Given the description of an element on the screen output the (x, y) to click on. 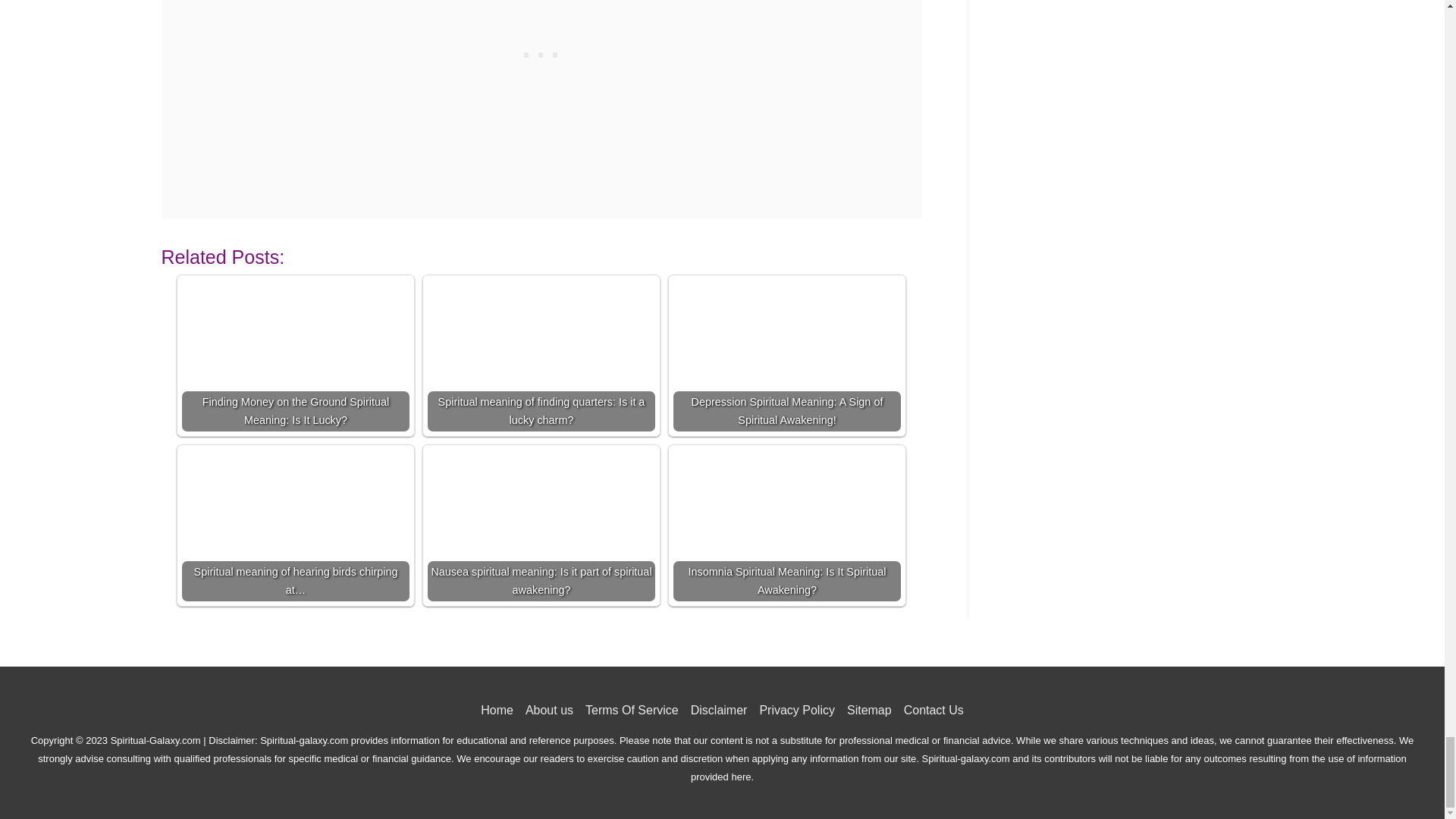
Spiritual meaning of finding quarters: Is it a lucky charm? (541, 355)
Depression Spiritual Meaning: A Sign of Spiritual Awakening! (786, 355)
Finding Money on the Ground Spiritual Meaning: Is It Lucky? (295, 355)
Insomnia Spiritual Meaning: Is It Spiritual Awakening? (786, 525)
Nausea spiritual meaning: Is it part of spiritual awakening? (541, 525)
